Given the description of an element on the screen output the (x, y) to click on. 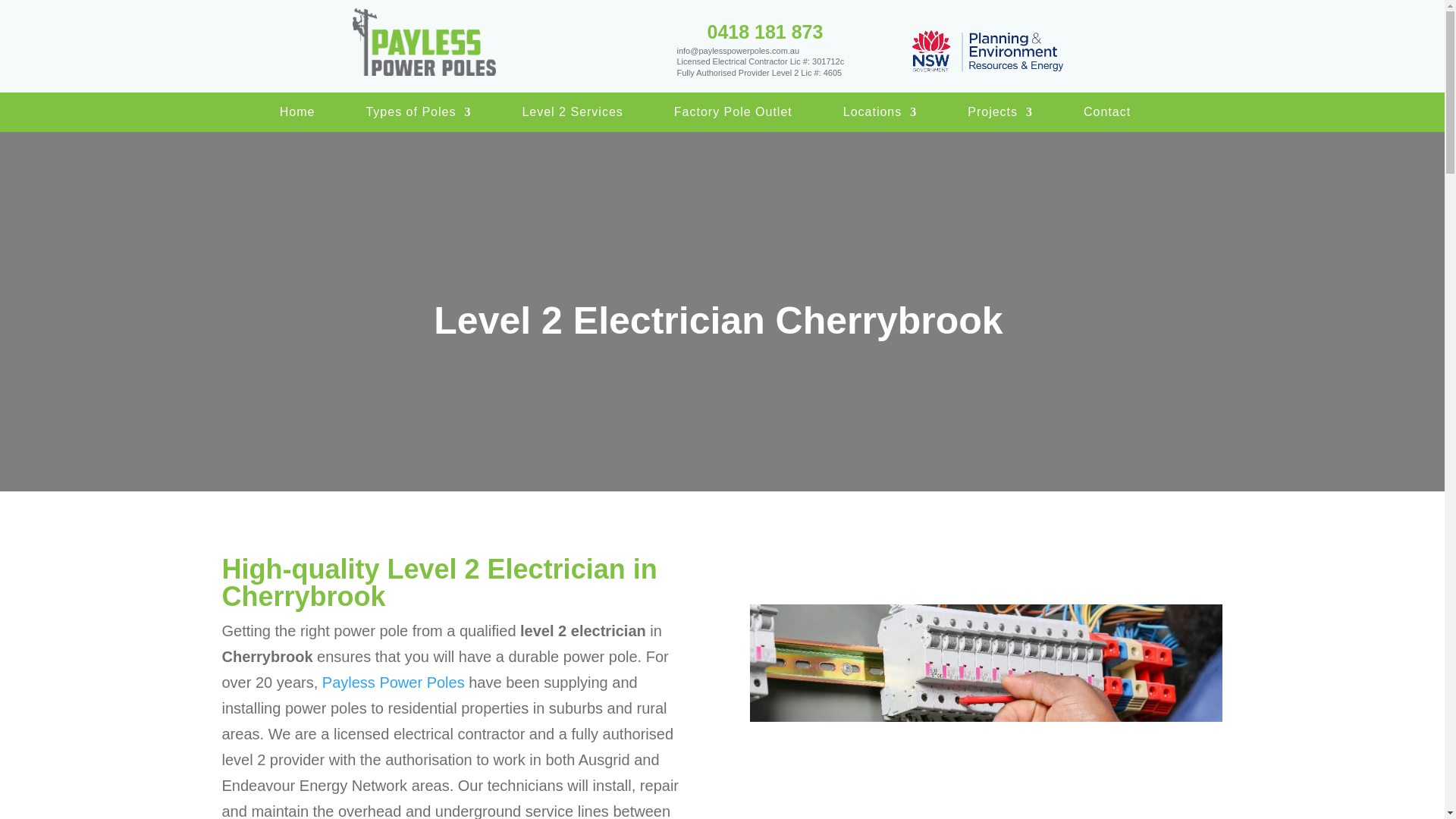
0418 181 873 (764, 31)
Contact (1107, 115)
Locations (880, 115)
Payless Power Poles (392, 682)
Level 2 Services (572, 115)
Types of Poles (417, 115)
Level 2 Electrician Cherrybrook3 (986, 711)
Factory Pole Outlet (733, 115)
Projects (1000, 115)
Home (297, 115)
